Given the description of an element on the screen output the (x, y) to click on. 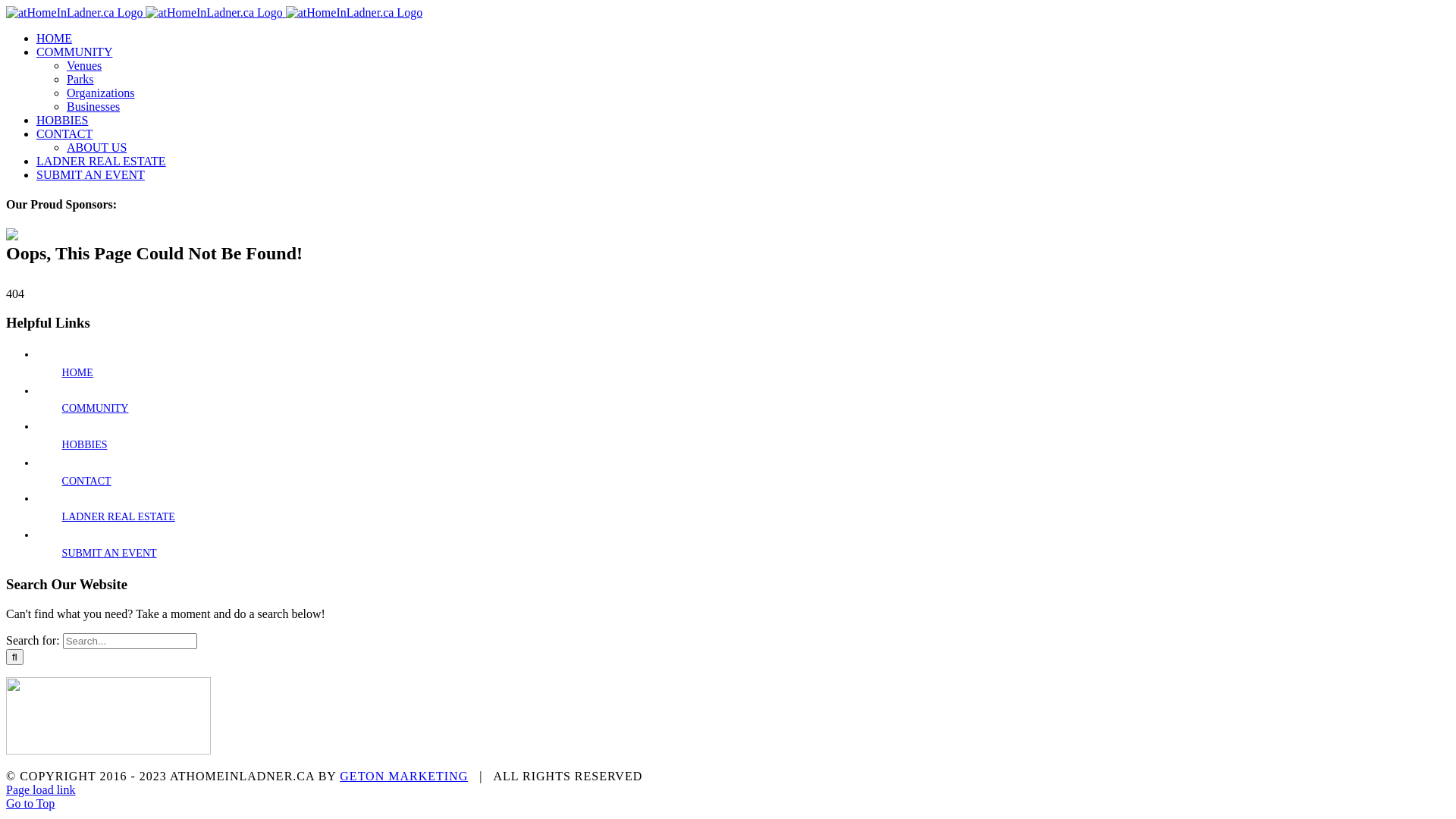
ABOUT US Element type: text (96, 147)
Businesses Element type: text (92, 106)
HOME Element type: text (77, 372)
Venues Element type: text (83, 65)
SUBMIT AN EVENT Element type: text (90, 174)
COMMUNITY Element type: text (74, 51)
CONTACT Element type: text (64, 133)
Organizations Element type: text (100, 92)
CONTACT Element type: text (86, 480)
SUBMIT AN EVENT Element type: text (109, 552)
LADNER REAL ESTATE Element type: text (118, 516)
HOBBIES Element type: text (61, 119)
HOBBIES Element type: text (84, 444)
GETON MARKETING Element type: text (403, 775)
Parks Element type: text (80, 78)
Page load link Element type: text (40, 789)
COMMUNITY Element type: text (95, 408)
LADNER REAL ESTATE Element type: text (101, 160)
Go to Top Element type: text (30, 803)
HOME Element type: text (54, 37)
